Given the description of an element on the screen output the (x, y) to click on. 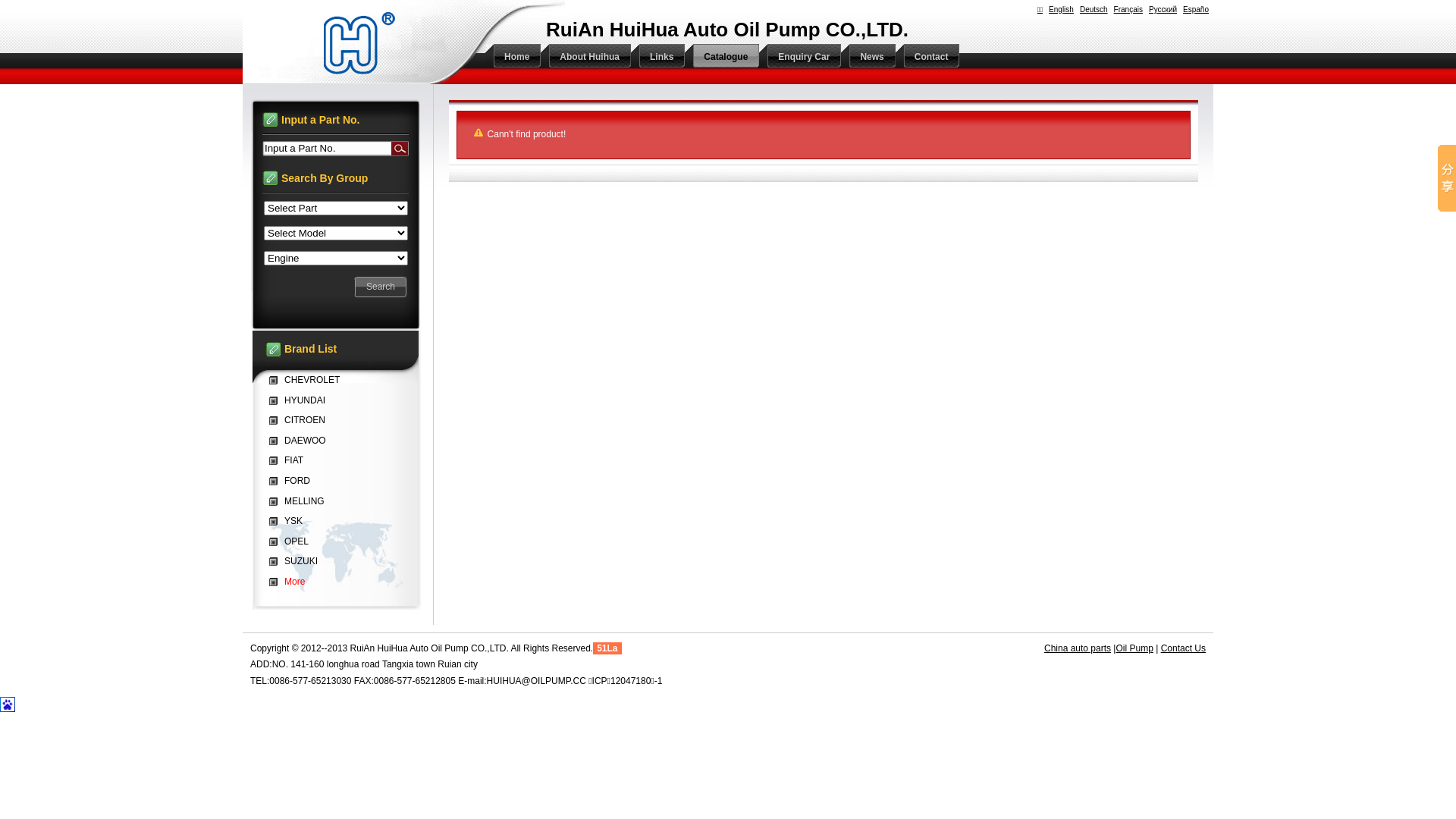
Search Element type: text (380, 286)
Input a Part No. Element type: hover (326, 148)
YSK Element type: text (289, 520)
FORD Element type: text (293, 480)
Catalogue Element type: text (721, 56)
FIAT Element type: text (289, 460)
HYUNDAI Element type: text (300, 400)
DAEWOO Element type: text (301, 440)
MELLING Element type: text (300, 500)
CHEVROLET Element type: text (307, 379)
Oil Pump Element type: text (1133, 648)
About Huihua Element type: text (585, 56)
51La Element type: text (607, 648)
More Element type: text (290, 581)
Deutsch Element type: text (1093, 8)
Contact Us Element type: text (1183, 648)
Enquiry Car Element type: text (799, 56)
SUZUKI Element type: text (296, 560)
Home Element type: text (512, 56)
CITROEN Element type: text (300, 419)
OPEL Element type: text (292, 541)
English Element type: text (1060, 8)
China auto parts Element type: text (1077, 648)
Contact Element type: text (927, 56)
Search Element type: text (399, 148)
Links Element type: text (657, 56)
News Element type: text (867, 56)
